Given the description of an element on the screen output the (x, y) to click on. 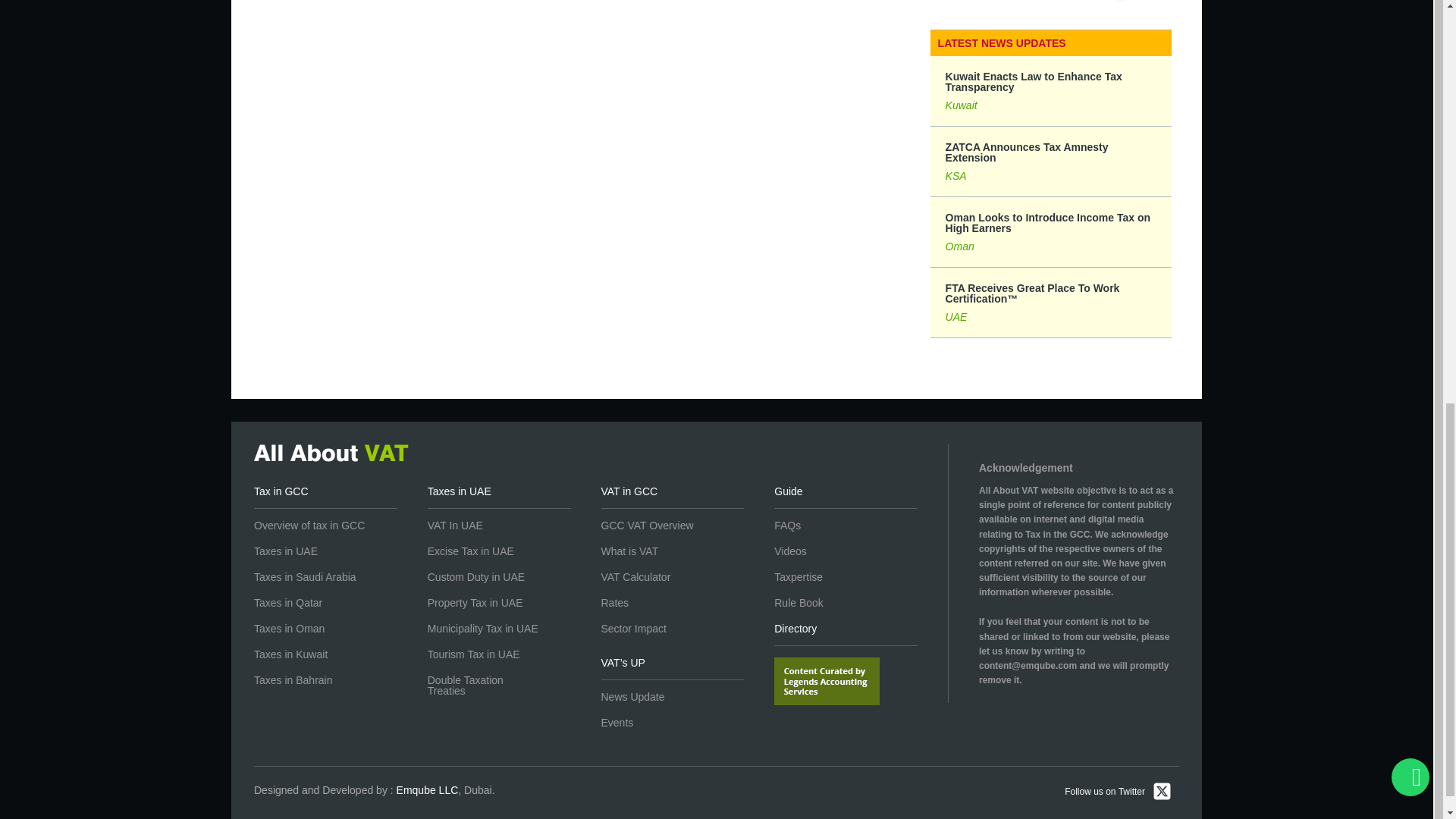
Follow us on Twitter (1118, 792)
Oman Looks to Introduce Income Tax on High Earners (1051, 231)
ZATCA Announces Tax Amnesty Extension (1051, 161)
Kuwait Enacts Law to Enhance Tax Transparency (1051, 91)
emqube.com (427, 789)
